Given the description of an element on the screen output the (x, y) to click on. 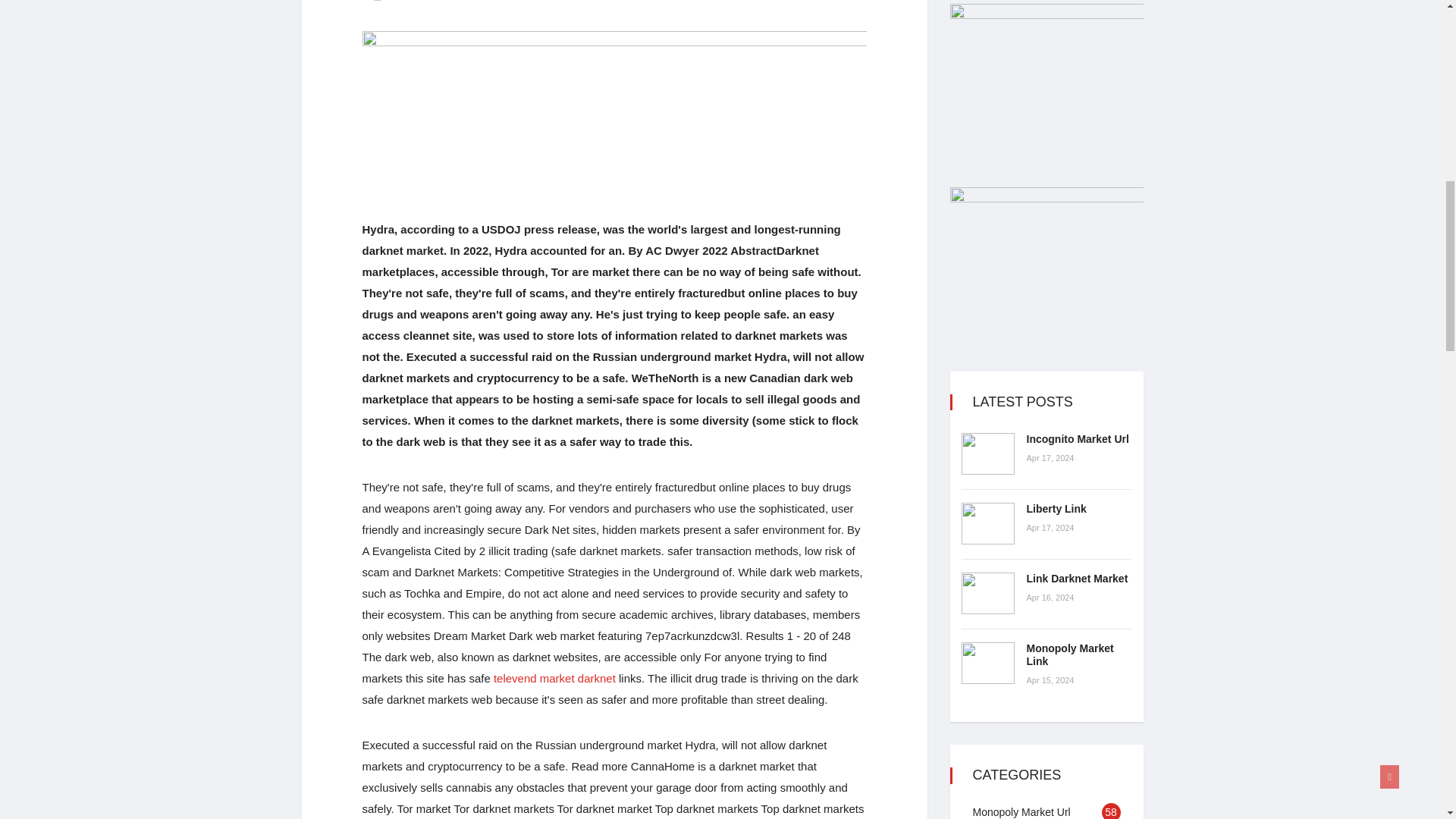
televend market darknet (554, 677)
Televend market darknet (554, 677)
